Given the description of an element on the screen output the (x, y) to click on. 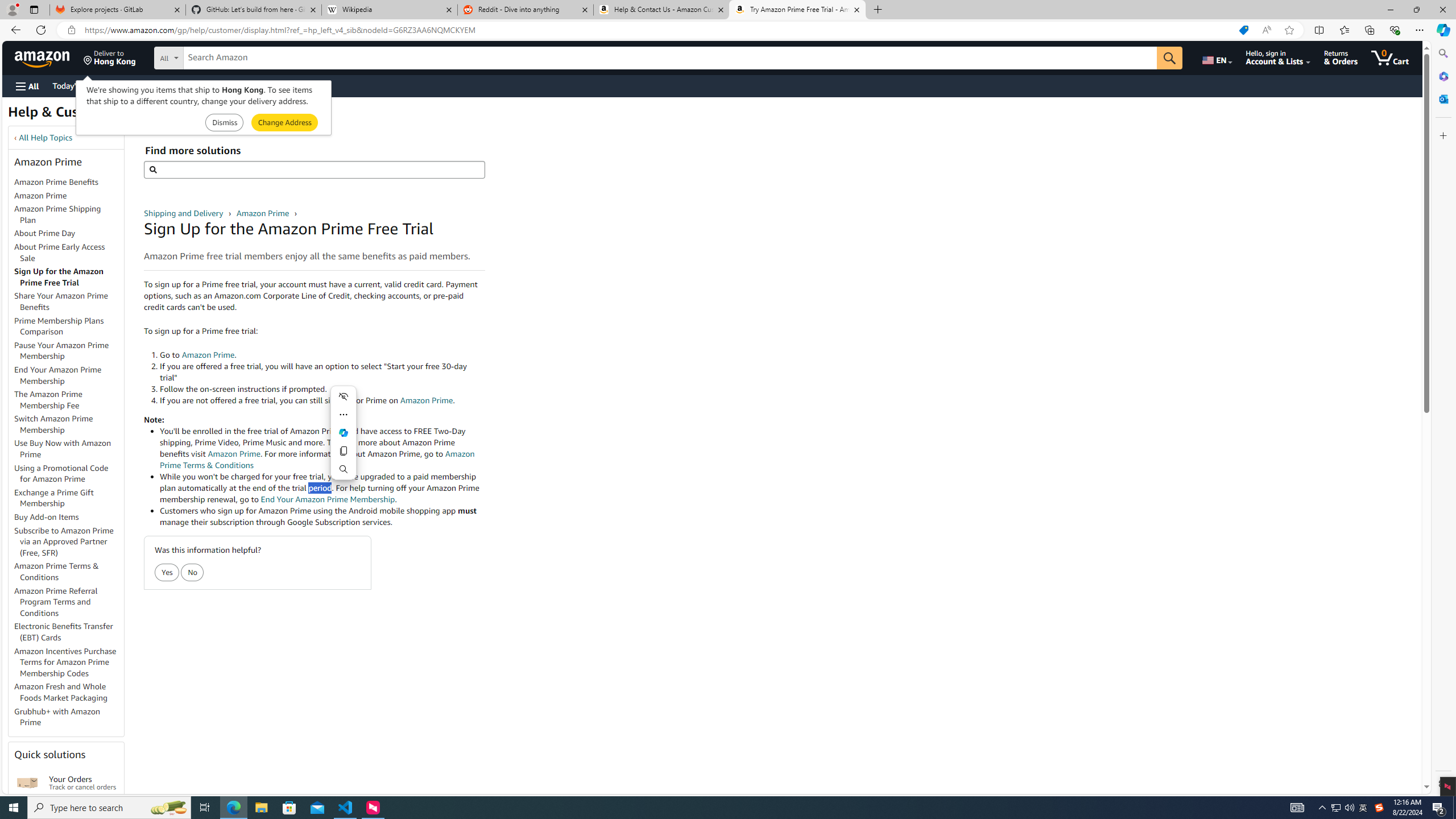
More actions (343, 414)
0 items in cart (1389, 57)
The Amazon Prime Membership Fee (68, 400)
Amazon Prime Referral Program Terms and Conditions (68, 602)
Mini menu on text selection (343, 439)
Amazon Prime  (263, 213)
Amazon Prime Terms & Conditions (56, 571)
Search in (210, 56)
Open Menu (26, 86)
